Given the description of an element on the screen output the (x, y) to click on. 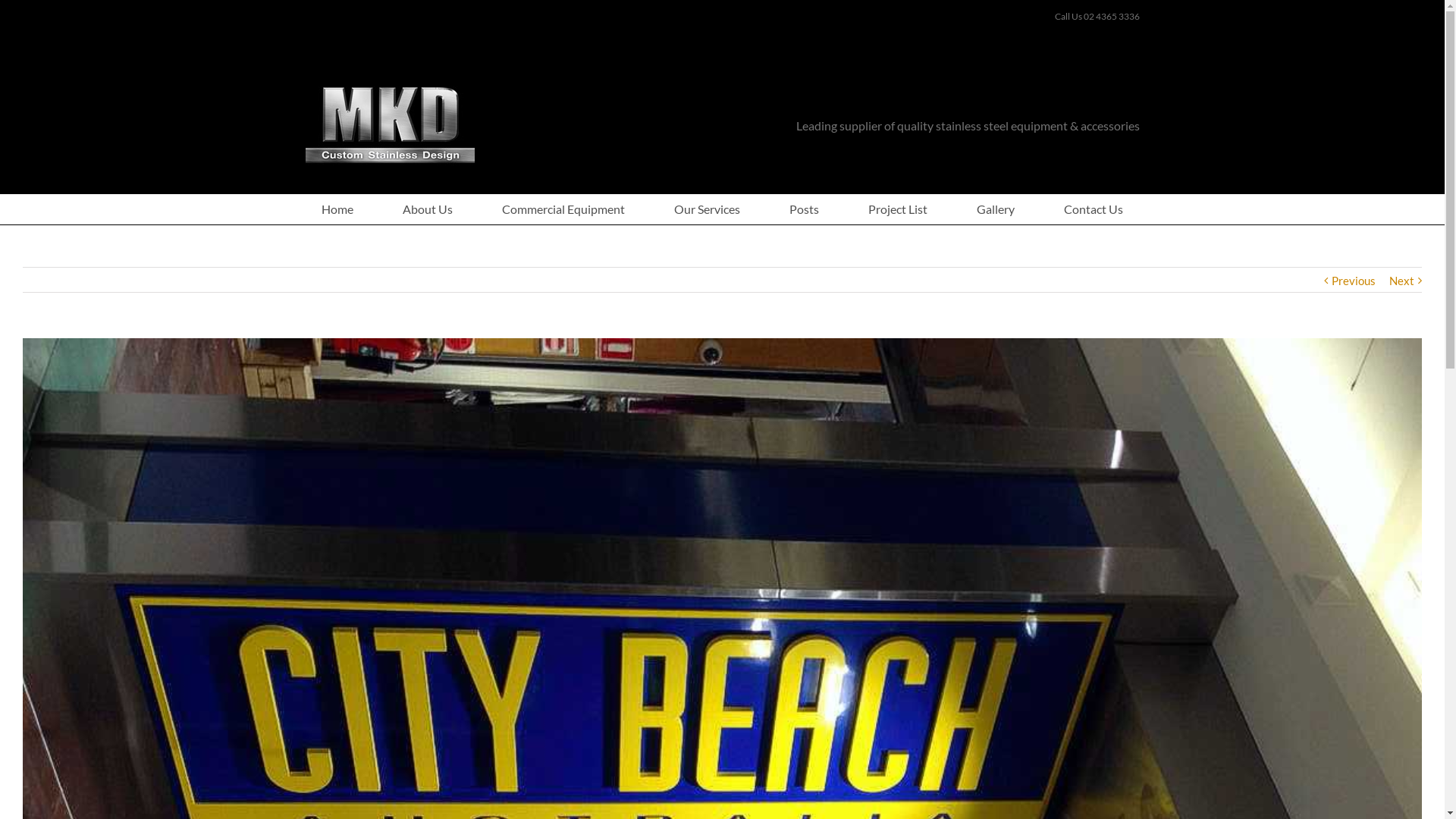
Home Element type: text (337, 209)
Next Element type: text (1401, 280)
Commercial Equipment Element type: text (563, 209)
Our Services Element type: text (706, 209)
Project List Element type: text (897, 209)
Gallery Element type: text (995, 209)
About Us Element type: text (427, 209)
Posts Element type: text (804, 209)
Previous Element type: text (1353, 280)
Contact Us Element type: text (1093, 209)
